Given the description of an element on the screen output the (x, y) to click on. 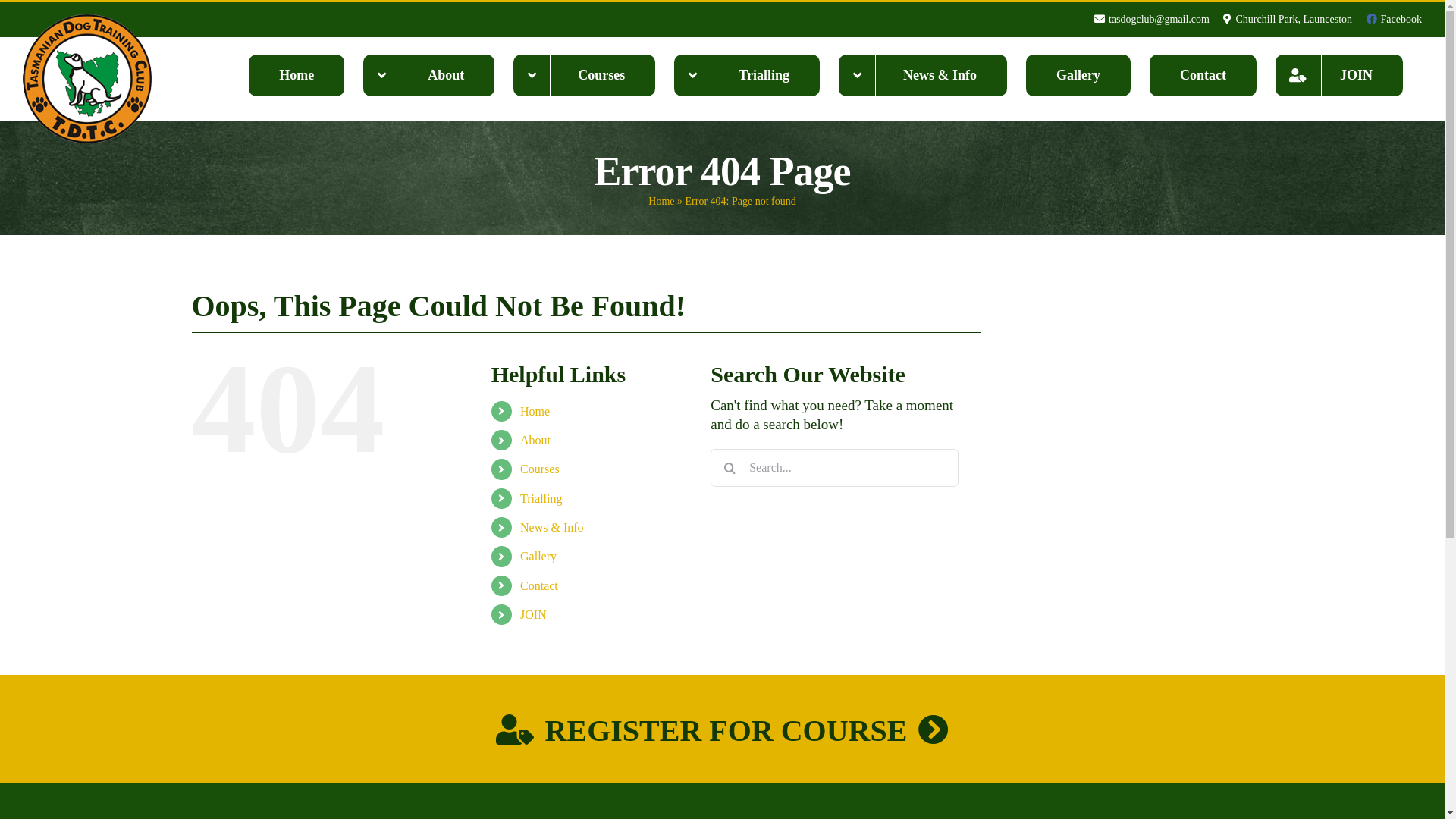
Gallery Element type: text (1078, 74)
Contact Element type: text (1202, 74)
About Element type: text (535, 439)
News & Info Element type: text (922, 74)
Trialling Element type: text (540, 498)
Gallery Element type: text (538, 555)
Churchill Park, Launceston Element type: text (1287, 19)
JOIN Element type: text (533, 614)
Contact Element type: text (539, 585)
Courses Element type: text (539, 468)
News & Info Element type: text (551, 526)
Trialling Element type: text (746, 74)
JOIN Element type: text (1338, 74)
REGISTER FOR COURSE Element type: text (721, 730)
Home Element type: text (661, 201)
Home Element type: text (296, 74)
Courses Element type: text (584, 74)
Home Element type: text (534, 410)
Facebook Element type: text (1393, 19)
tasdogclub@gmail.com Element type: text (1151, 19)
About Element type: text (428, 74)
